Given the description of an element on the screen output the (x, y) to click on. 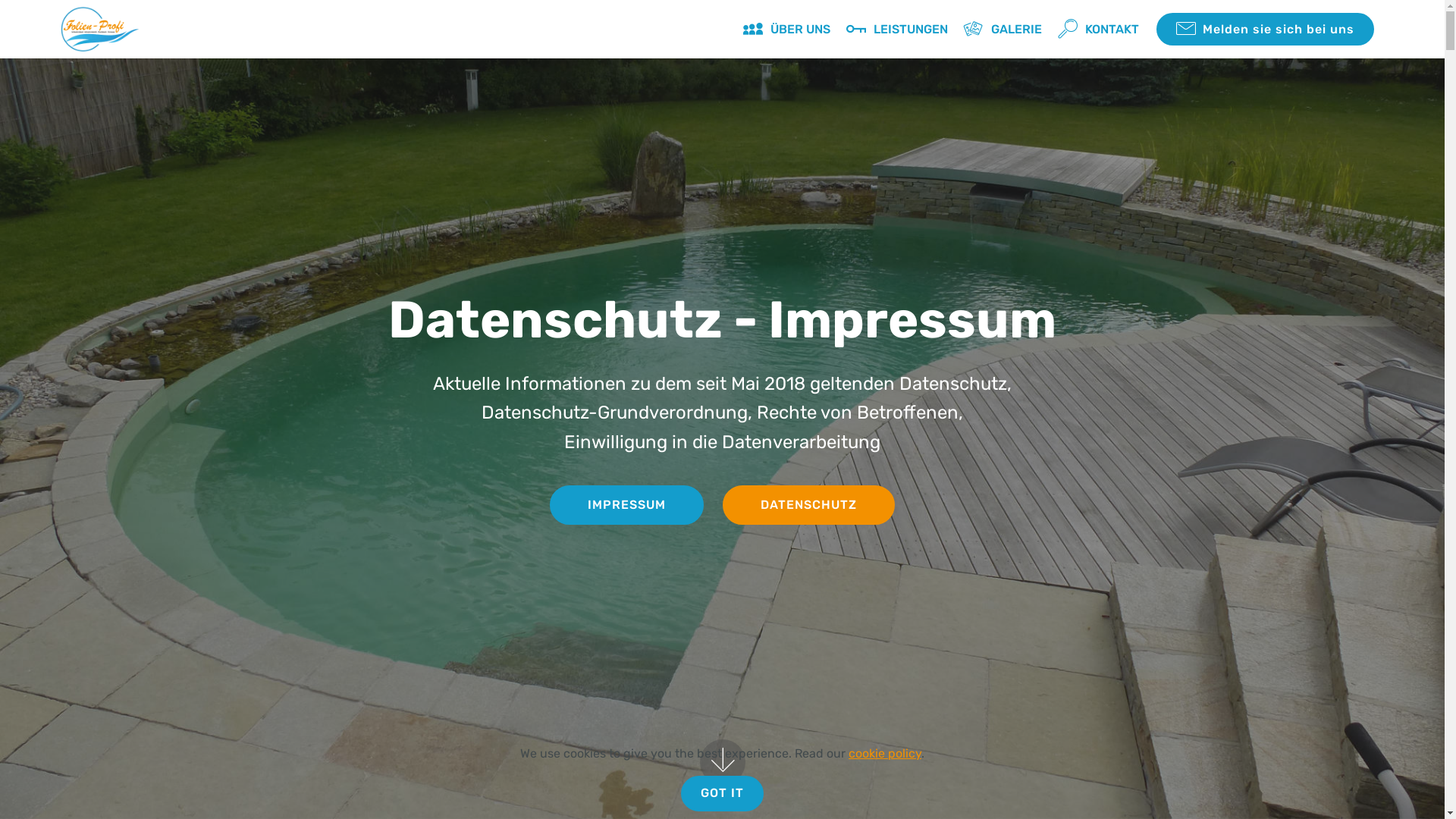
Melden sie sich bei uns Element type: text (1265, 28)
KONTAKT Element type: text (1098, 28)
DATENSCHUTZ Element type: text (808, 504)
IMPRESSUM Element type: text (626, 504)
GALERIE Element type: text (1002, 28)
LEISTUNGEN Element type: text (896, 28)
Folien-Profi Element type: text (198, 28)
cookie policy Element type: text (884, 753)
GOT IT Element type: text (721, 793)
